Given the description of an element on the screen output the (x, y) to click on. 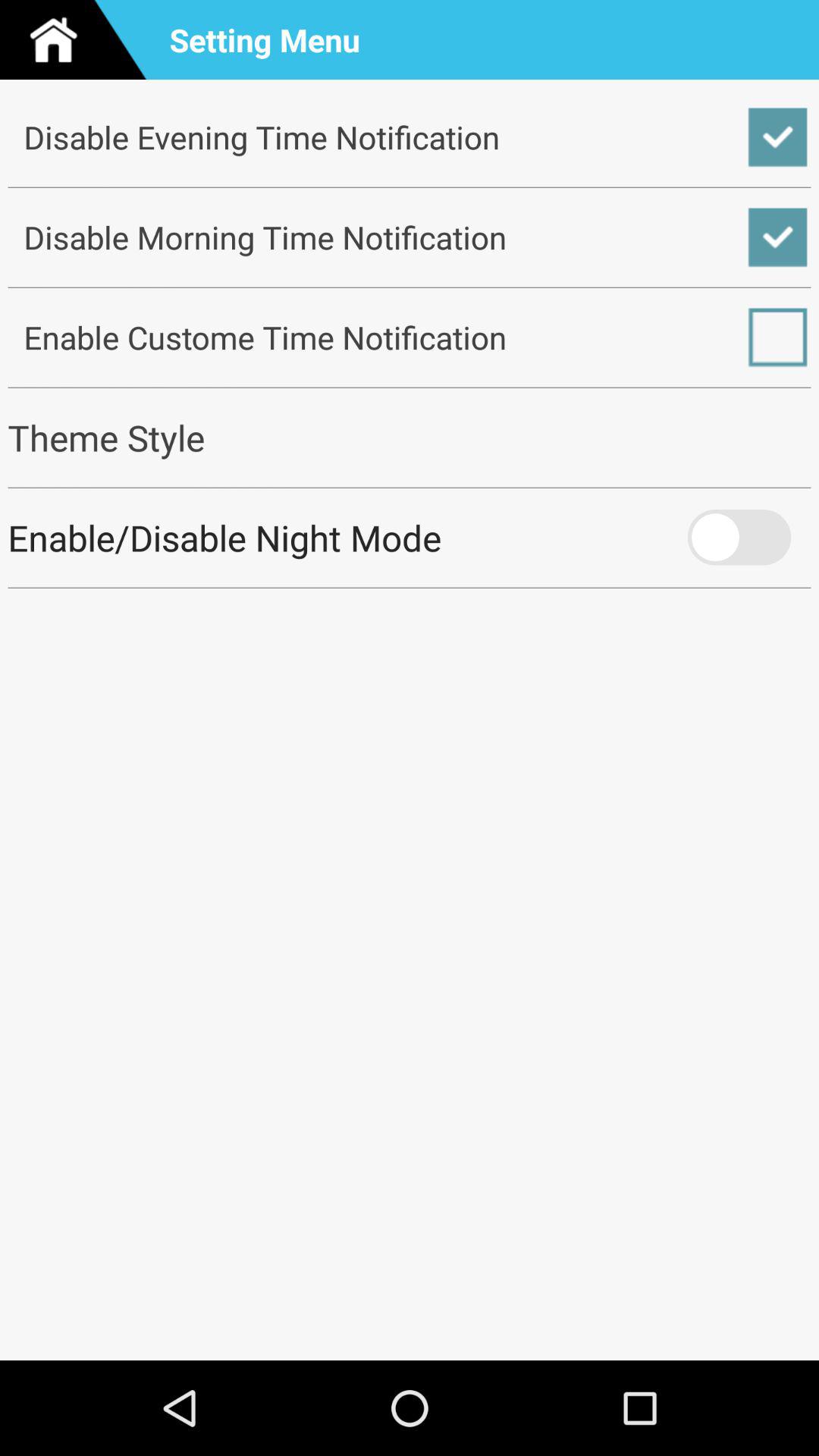
navigate to home page (79, 39)
